Given the description of an element on the screen output the (x, y) to click on. 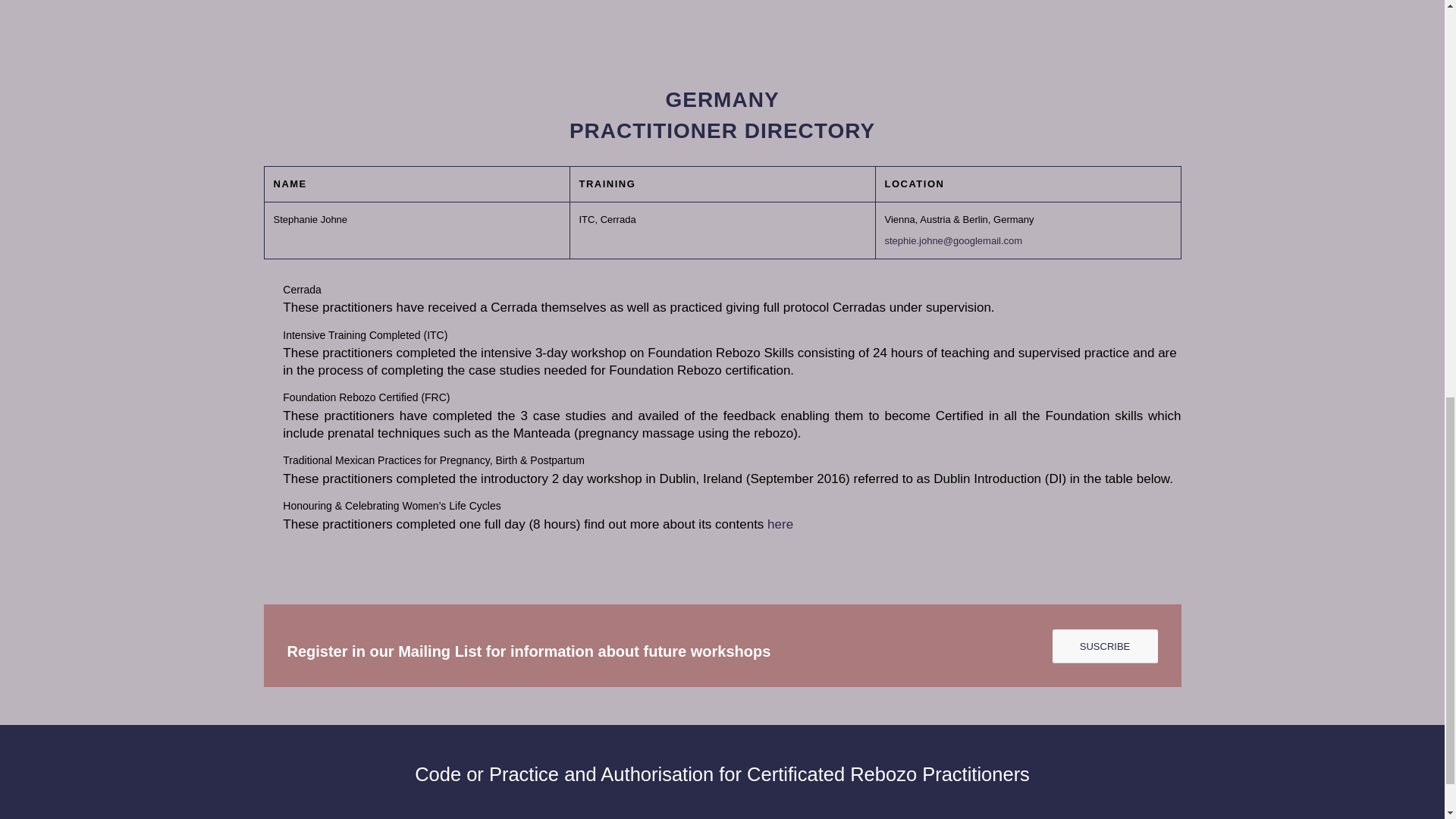
here (780, 523)
SUSCRIBE (1104, 646)
